Given the description of an element on the screen output the (x, y) to click on. 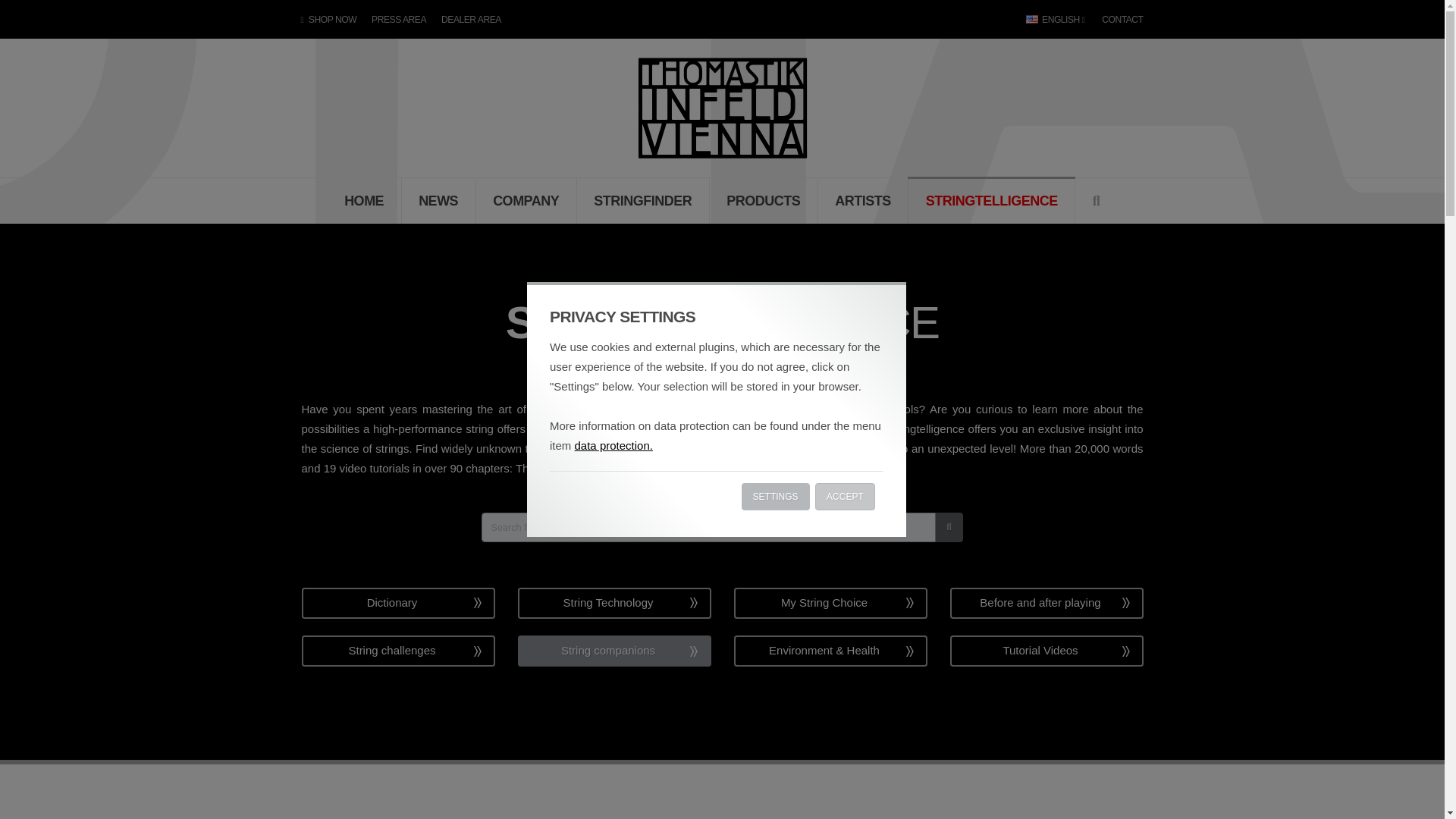
NEWS (438, 200)
STRINGFINDER (643, 200)
HOME (364, 200)
PRODUCTS (764, 200)
Homepage (721, 106)
CONTACT (1118, 19)
COMPANY (526, 200)
ENGLISH (1055, 19)
PRESS AREA (398, 19)
GERMAN (845, 372)
DEALER AREA (470, 19)
Suchen... (1095, 201)
SHOP NOW (333, 19)
